Given the description of an element on the screen output the (x, y) to click on. 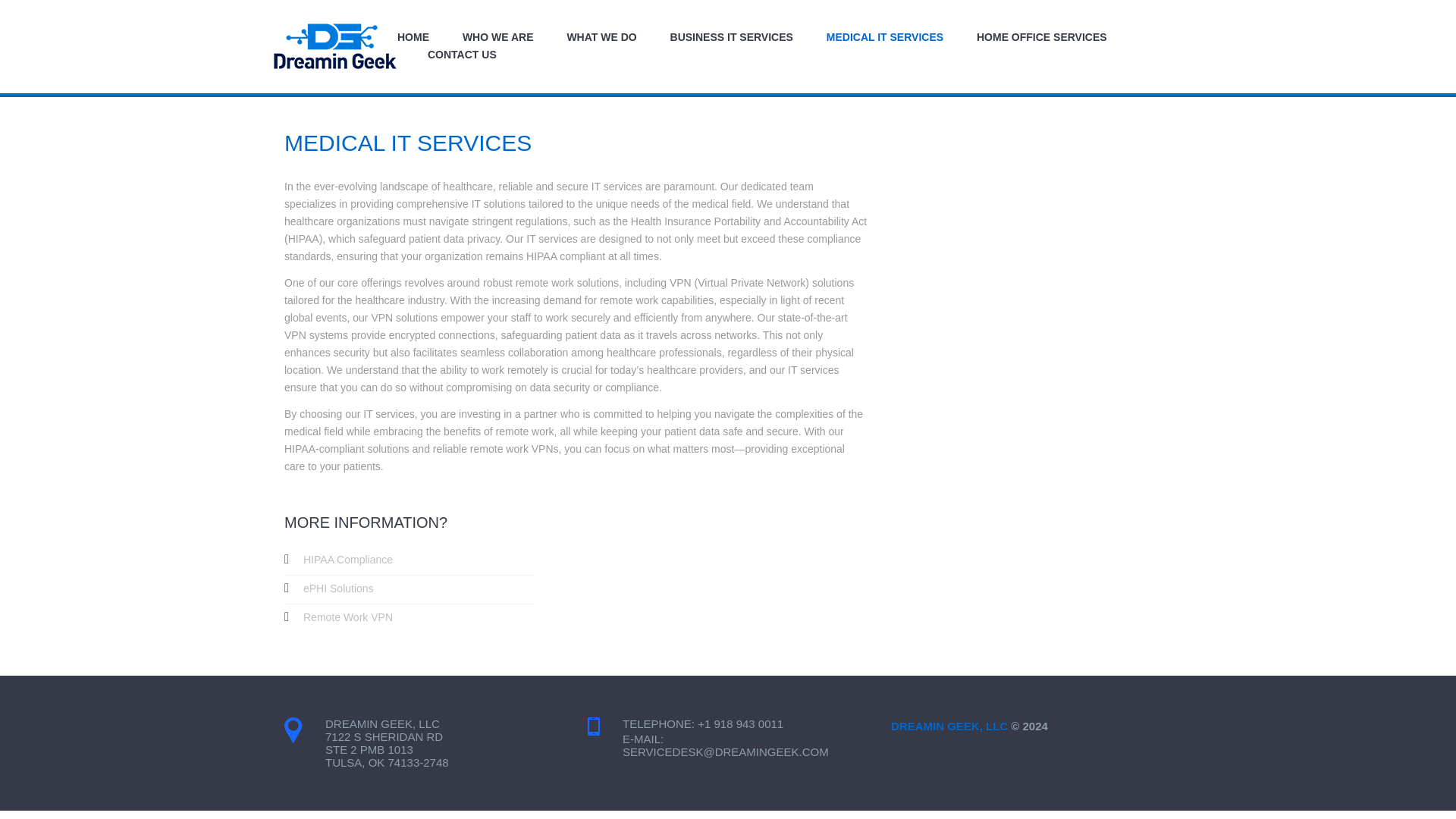
CONTACT US (462, 54)
ePHI Solutions (338, 588)
WHAT WE DO (601, 36)
HOME (413, 36)
WHO WE ARE (498, 36)
Remote Work VPN (347, 617)
Remote Work VPN (347, 617)
ePHI Solutions (338, 588)
BUSINESS IT SERVICES (731, 36)
HOME OFFICE SERVICES (1041, 36)
HIPAA Compliance (347, 559)
HIPAA Compliance (347, 559)
MEDICAL IT SERVICES (885, 36)
